Given the description of an element on the screen output the (x, y) to click on. 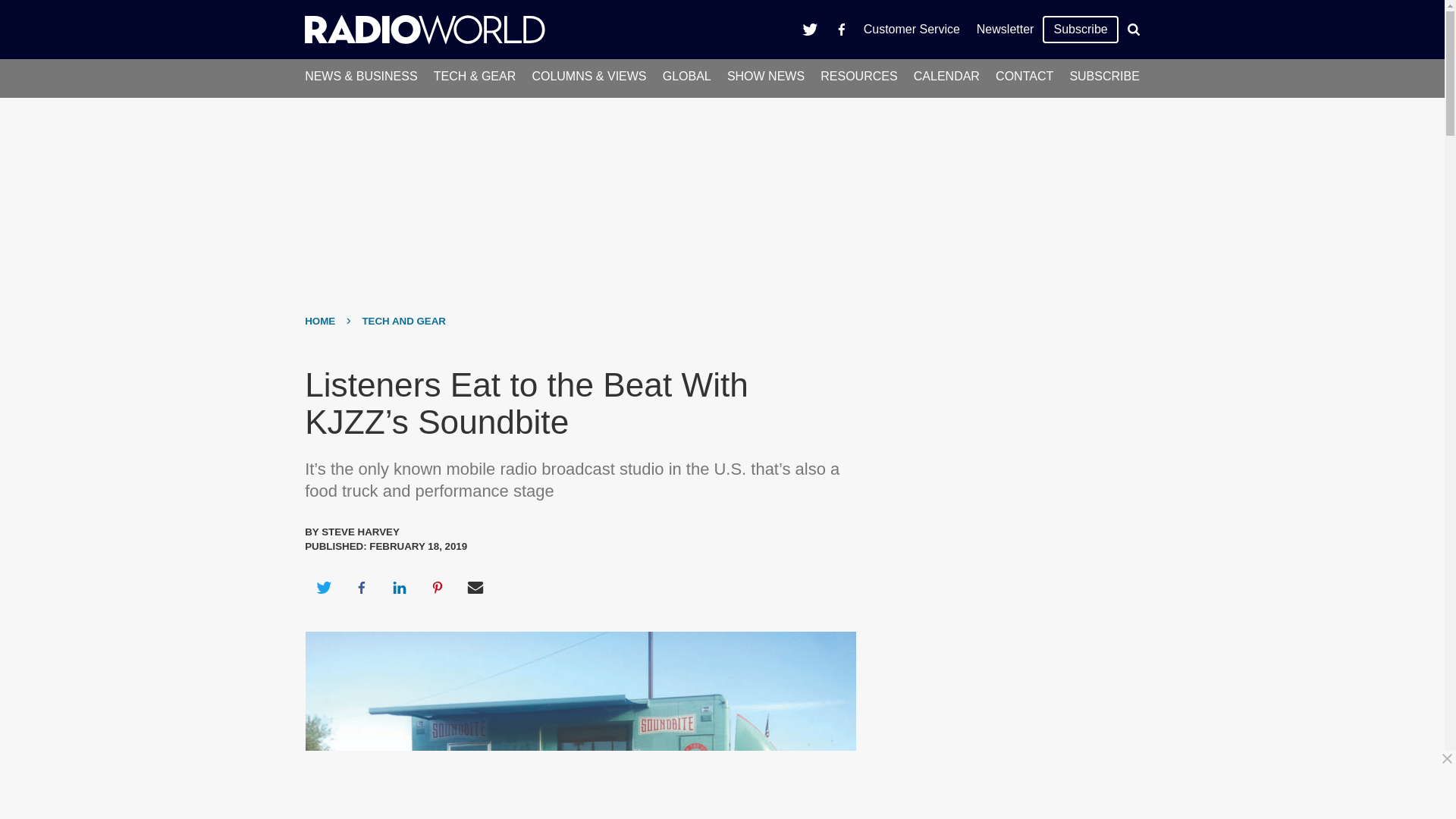
Newsletter (1005, 29)
Share on Facebook (361, 587)
Advertisement (727, 785)
Share via Email (476, 587)
Customer Service (912, 29)
Share on Twitter (323, 587)
Share on Pinterest (438, 587)
Share on LinkedIn (399, 587)
Advertisement (1005, 667)
